Given the description of an element on the screen output the (x, y) to click on. 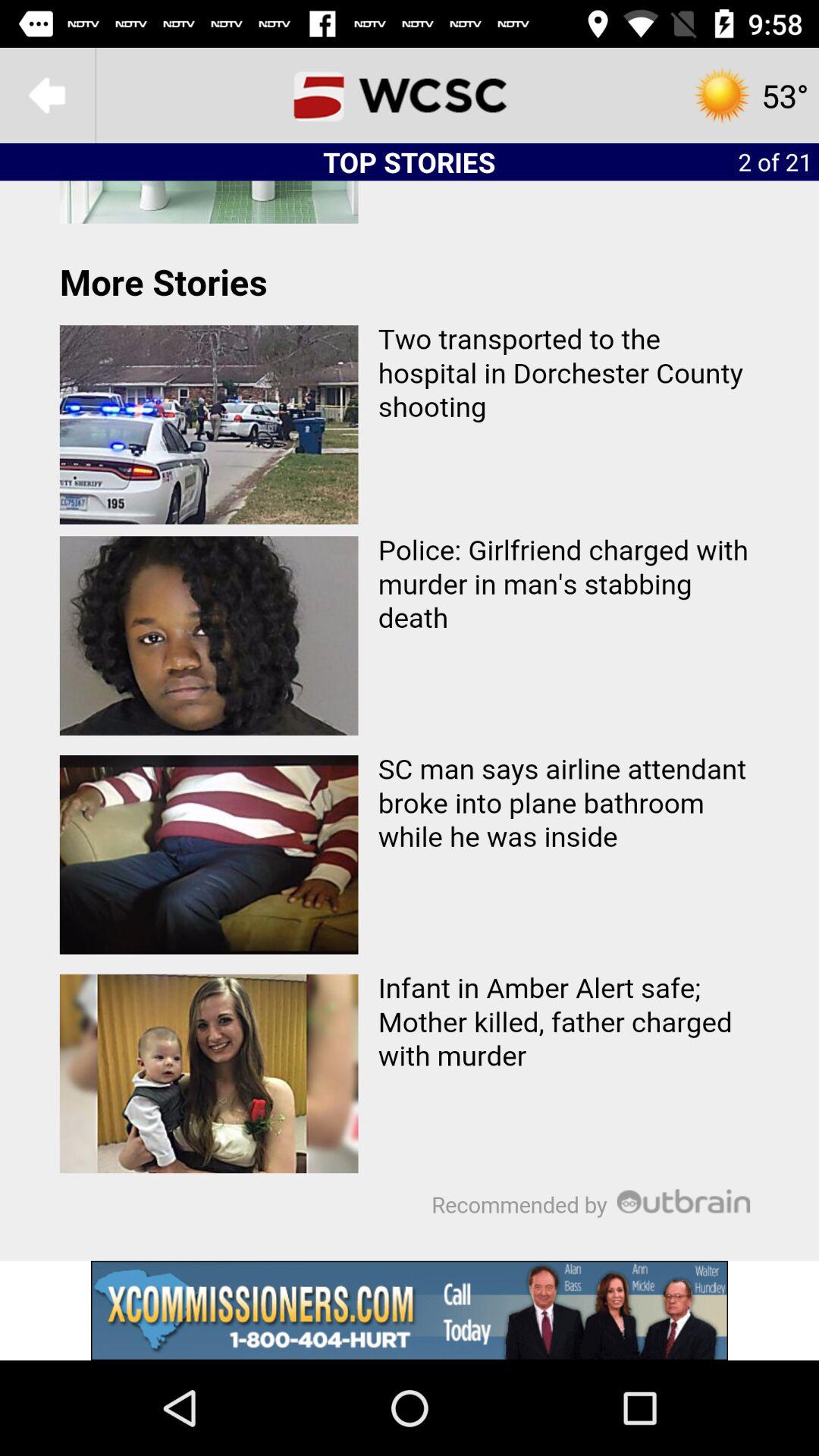
tap to view advertisement for xcommissioners.com (409, 1310)
